Given the description of an element on the screen output the (x, y) to click on. 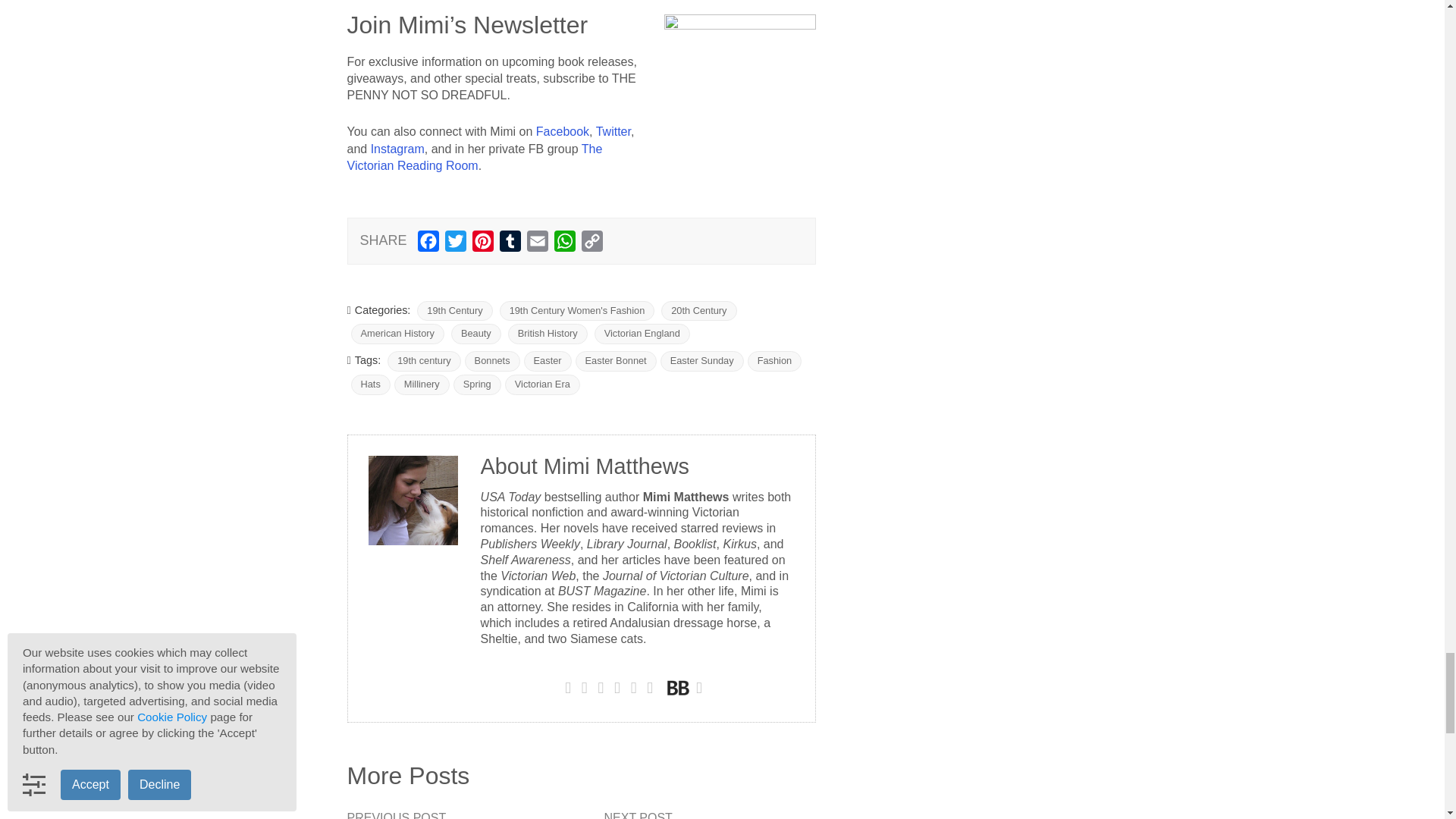
Pinterest (482, 244)
Twitter (455, 244)
WhatsApp (564, 244)
Facebook (428, 244)
Email (537, 244)
Copy Link (591, 244)
Tumblr (510, 244)
